Given the description of an element on the screen output the (x, y) to click on. 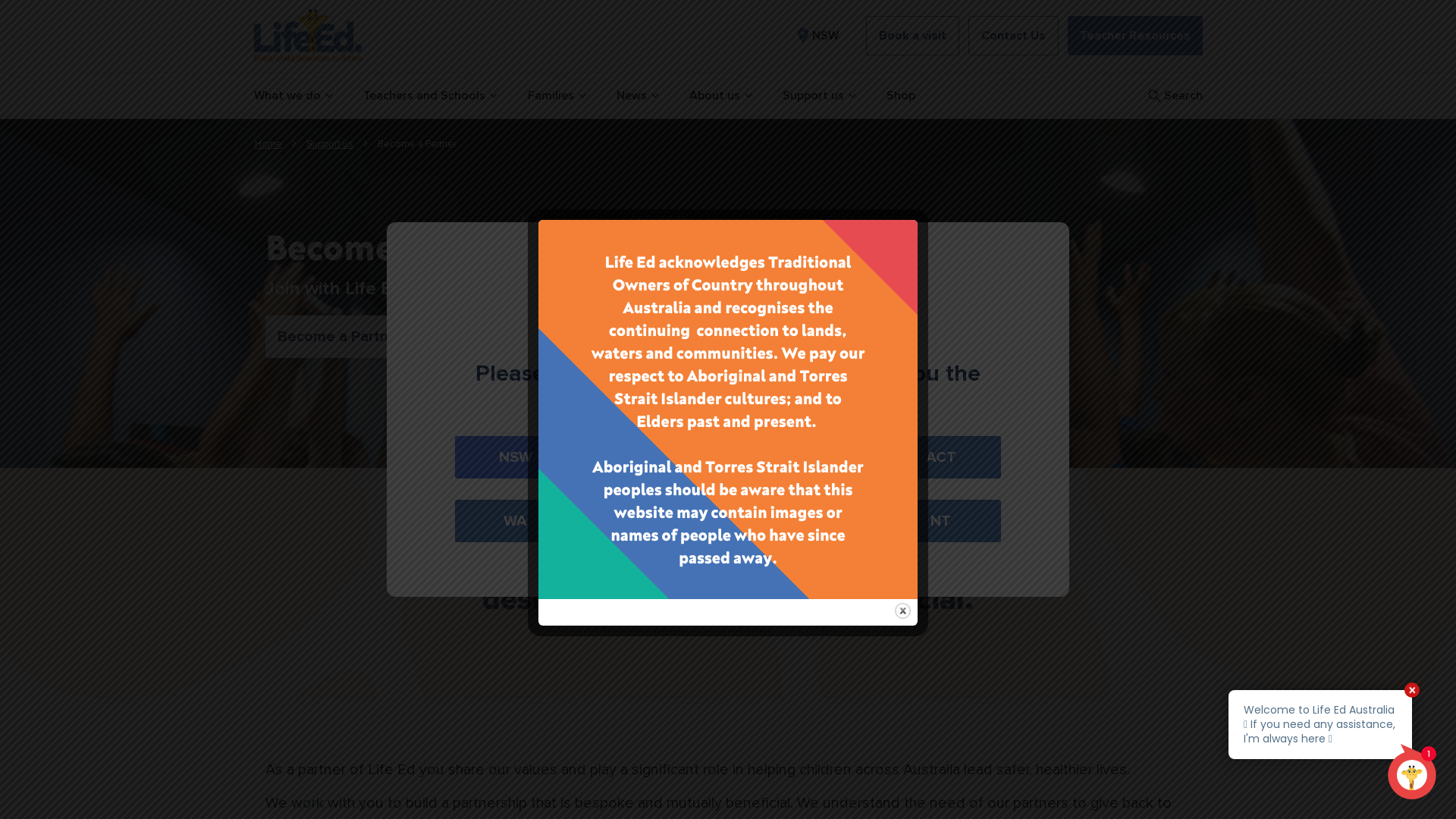
NSW Element type: text (815, 35)
WA Element type: text (515, 520)
NT Element type: text (940, 520)
Teachers and Schools Element type: text (429, 95)
TAS Element type: text (798, 520)
VIC Element type: text (656, 457)
Contact Us Element type: text (1012, 35)
SA Element type: text (656, 520)
Families Element type: text (556, 95)
Support us Element type: text (819, 95)
Teacher Resources Element type: text (1134, 35)
Book a visit Element type: text (912, 35)
Support us Element type: text (329, 144)
Become a Partner Element type: text (339, 336)
ACT Element type: text (940, 457)
What we do Element type: text (292, 95)
Chat with us Element type: hover (1332, 744)
About us Element type: text (719, 95)
Search Element type: text (1173, 95)
QLD Element type: text (798, 457)
News Element type: text (636, 95)
Shop Element type: text (899, 95)
Home Element type: text (268, 144)
NSW Element type: text (515, 457)
